Given the description of an element on the screen output the (x, y) to click on. 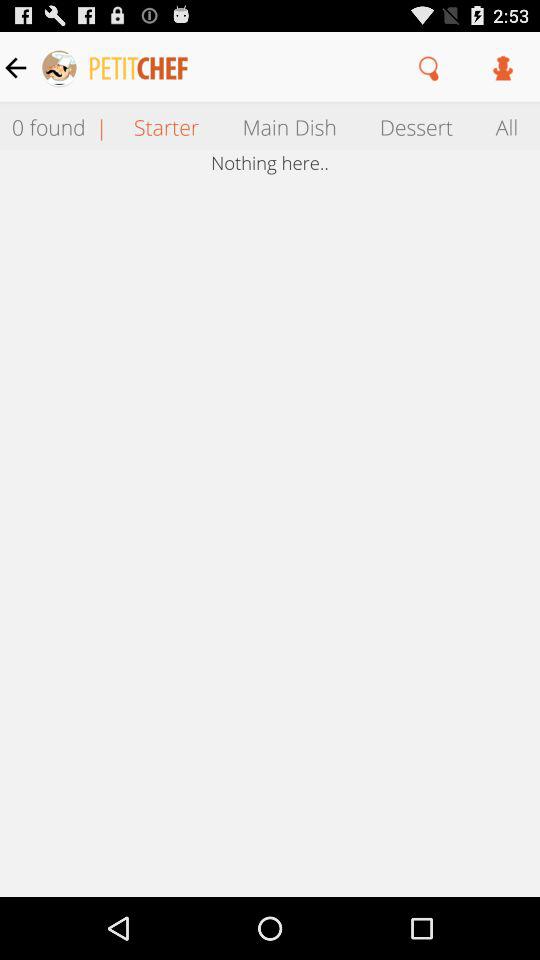
select the item to the left of all (416, 126)
